Given the description of an element on the screen output the (x, y) to click on. 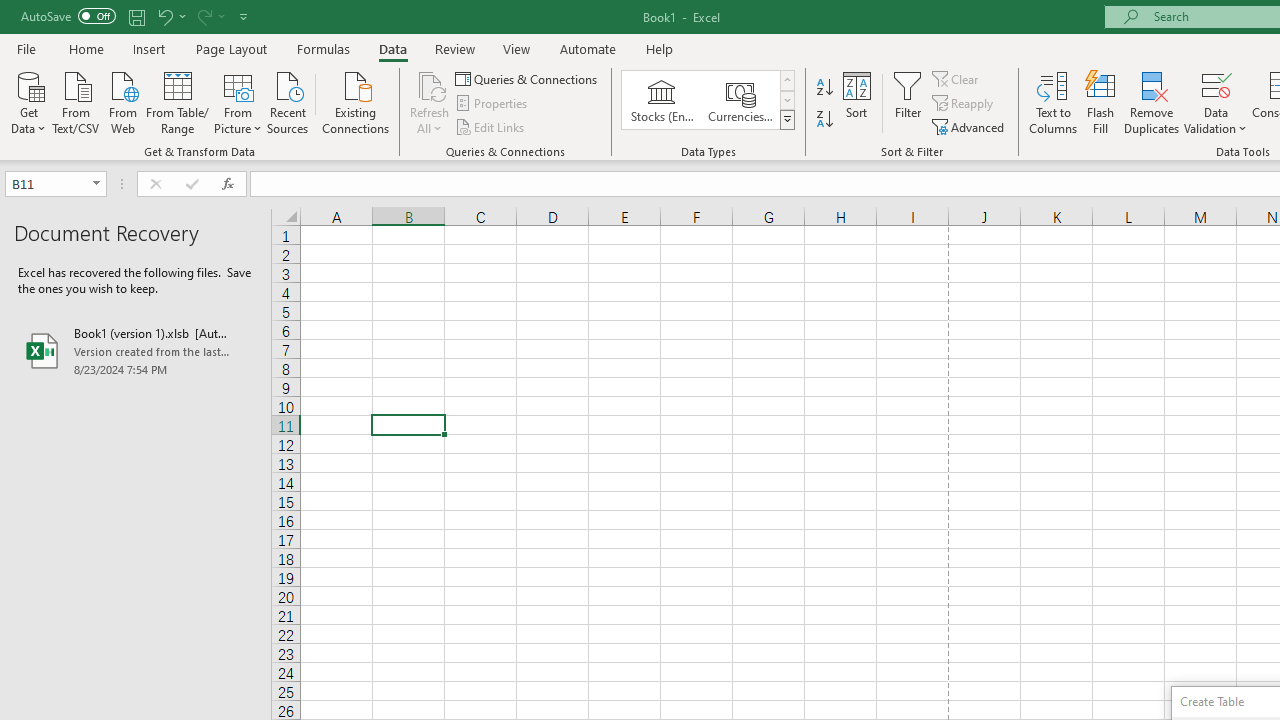
Review (454, 48)
Class: NetUIImage (787, 119)
Insert (149, 48)
Redo (209, 15)
More Options (1215, 121)
Name Box (56, 183)
Filter (908, 102)
AutomationID: ConvertToLinkedEntity (708, 99)
Data (392, 48)
Row up (786, 79)
System (10, 11)
Home (86, 48)
Refresh All (429, 102)
Advanced... (970, 126)
Stocks (English) (662, 100)
